Given the description of an element on the screen output the (x, y) to click on. 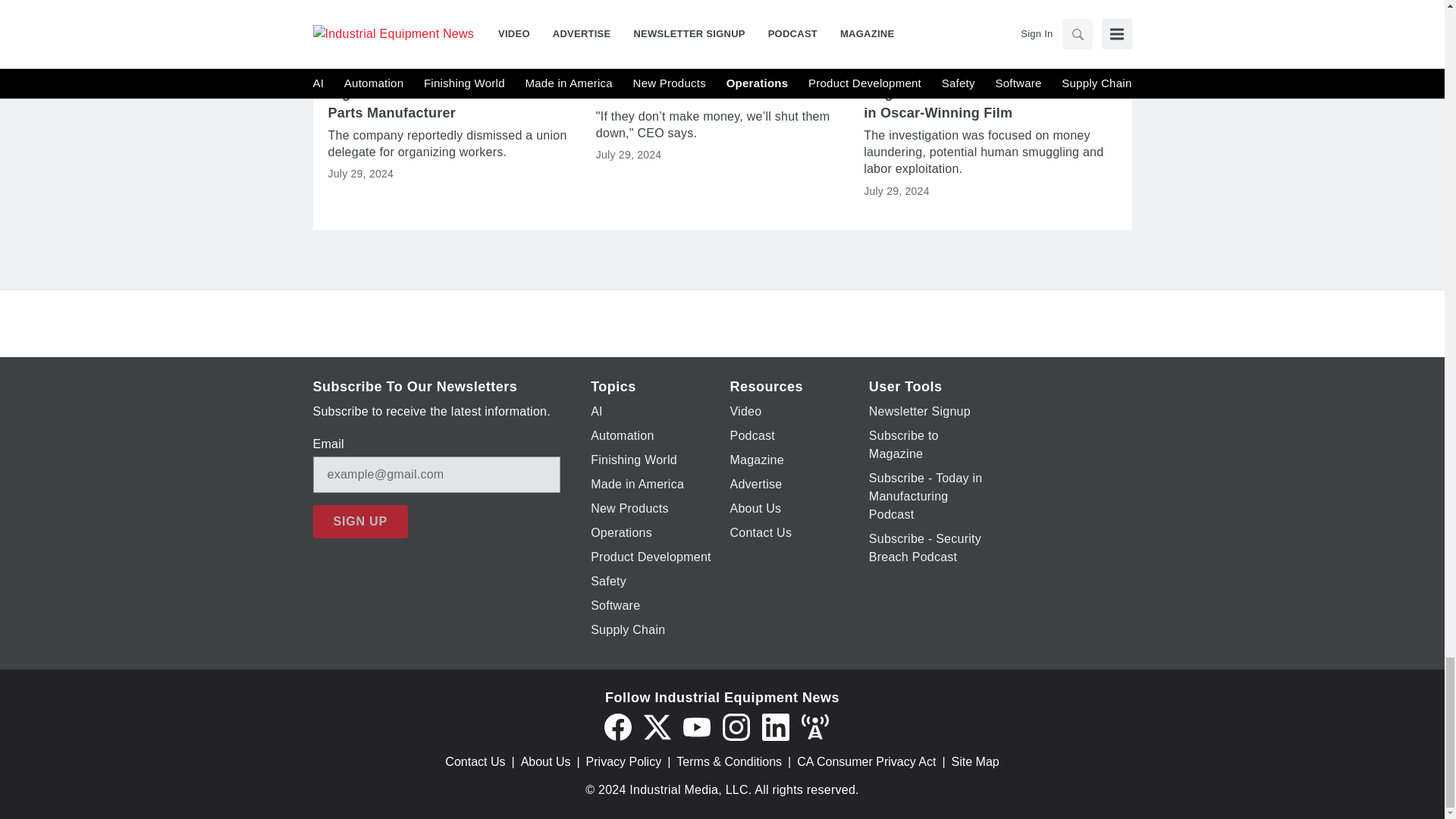
Twitter X icon (656, 727)
Facebook icon (617, 727)
Instagram icon (735, 727)
LinkedIn icon (775, 727)
YouTube icon (696, 727)
